Given the description of an element on the screen output the (x, y) to click on. 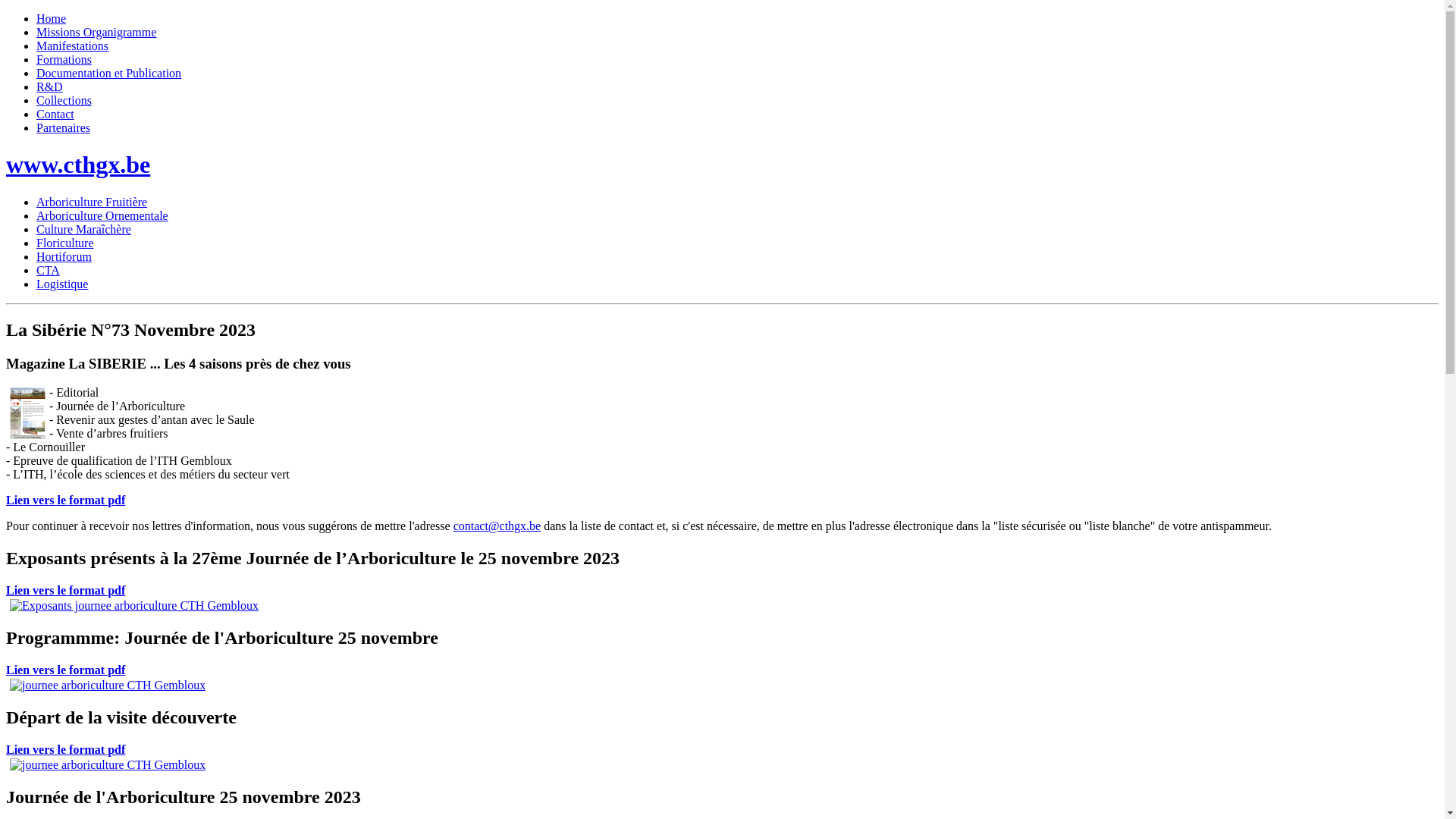
R&D Element type: text (49, 86)
Contact Element type: text (55, 113)
Lien vers le format pdf Element type: text (65, 749)
Documentation et Publication Element type: text (108, 72)
Lien vers le format pdf Element type: text (65, 589)
Floriculture Element type: text (65, 242)
Manifestations Element type: text (72, 45)
Missions Organigramme Element type: text (96, 31)
Collections Element type: text (63, 100)
Lien vers le format pdf Element type: text (65, 669)
Formations Element type: text (63, 59)
contact@cthgx.be Element type: text (497, 525)
CTA Element type: text (47, 269)
Arboriculture Ornementale Element type: text (102, 215)
Home Element type: text (50, 18)
Hortiforum Element type: text (63, 256)
www.cthgx.be Element type: text (78, 164)
Partenaires Element type: text (63, 127)
Logistique Element type: text (61, 283)
Lien vers le format pdf Element type: text (65, 499)
